Given the description of an element on the screen output the (x, y) to click on. 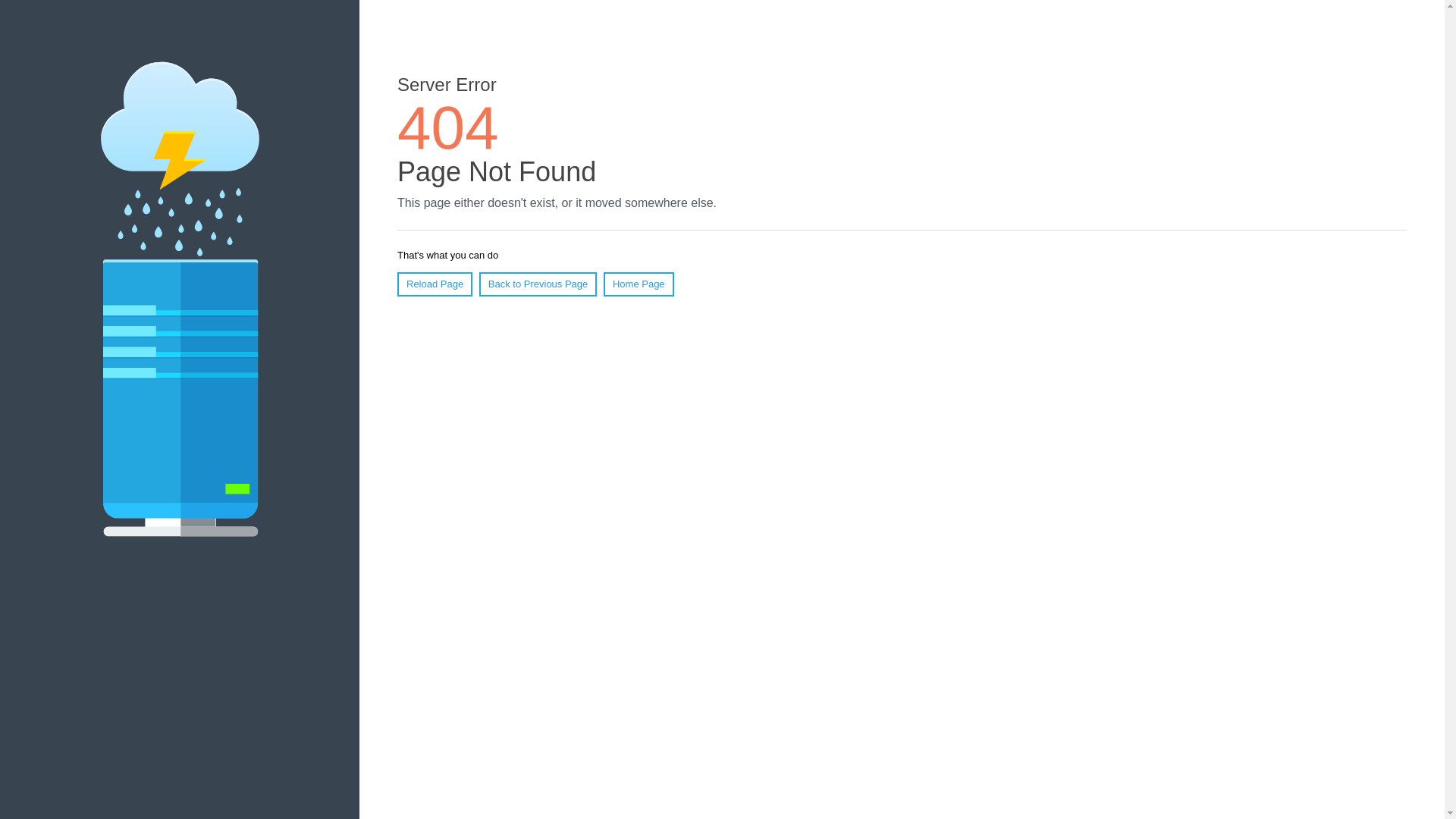
Reload Page Element type: text (434, 284)
Home Page Element type: text (638, 284)
Back to Previous Page Element type: text (538, 284)
